Given the description of an element on the screen output the (x, y) to click on. 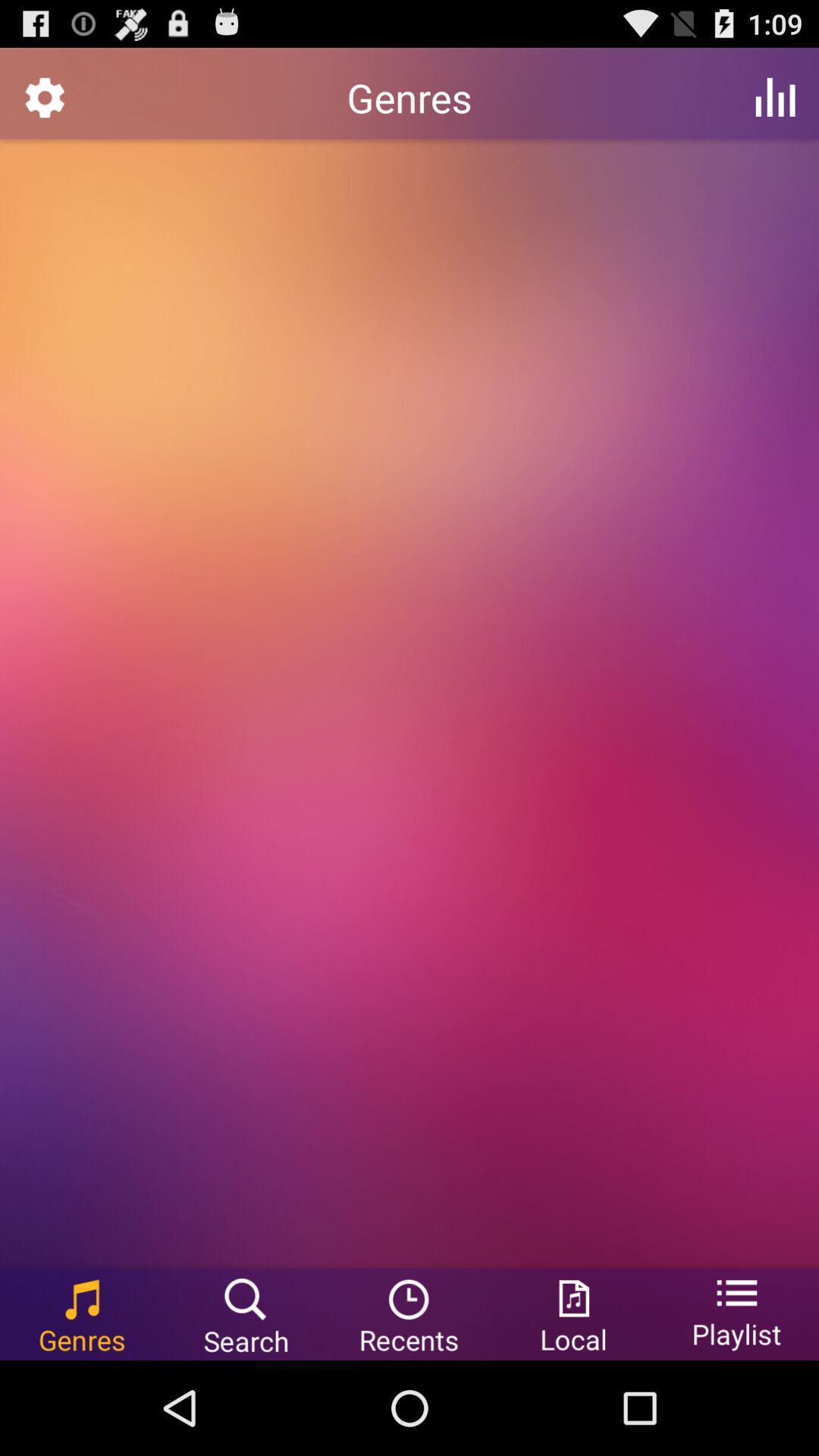
choose icon to the right of the genres app (775, 96)
